Given the description of an element on the screen output the (x, y) to click on. 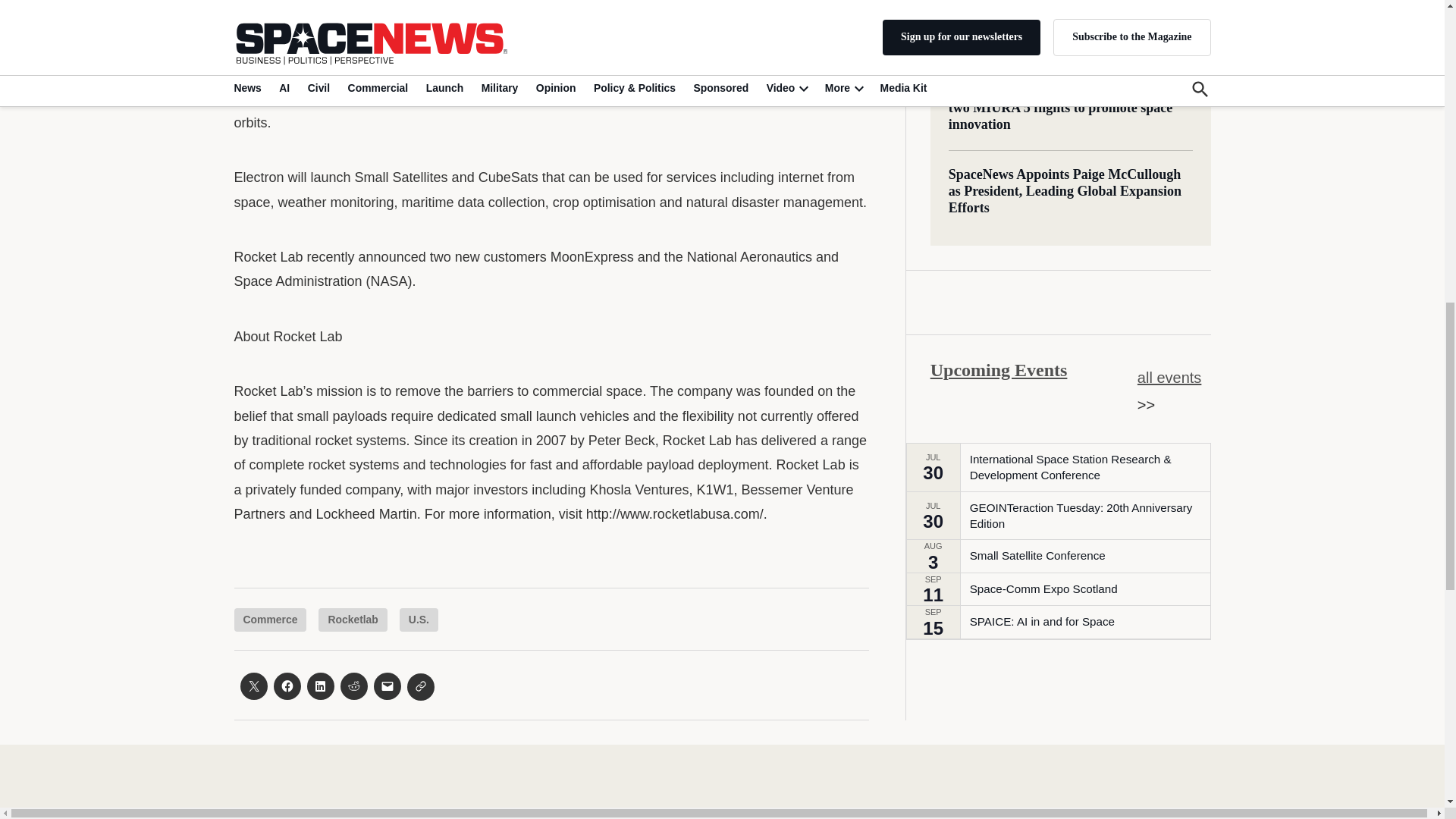
Click to share on LinkedIn (319, 686)
Click to share on X (253, 686)
Click to share on Facebook (286, 686)
Click to share on Clipboard (419, 687)
Click to email a link to a friend (386, 686)
Click to share on Reddit (352, 686)
